Given the description of an element on the screen output the (x, y) to click on. 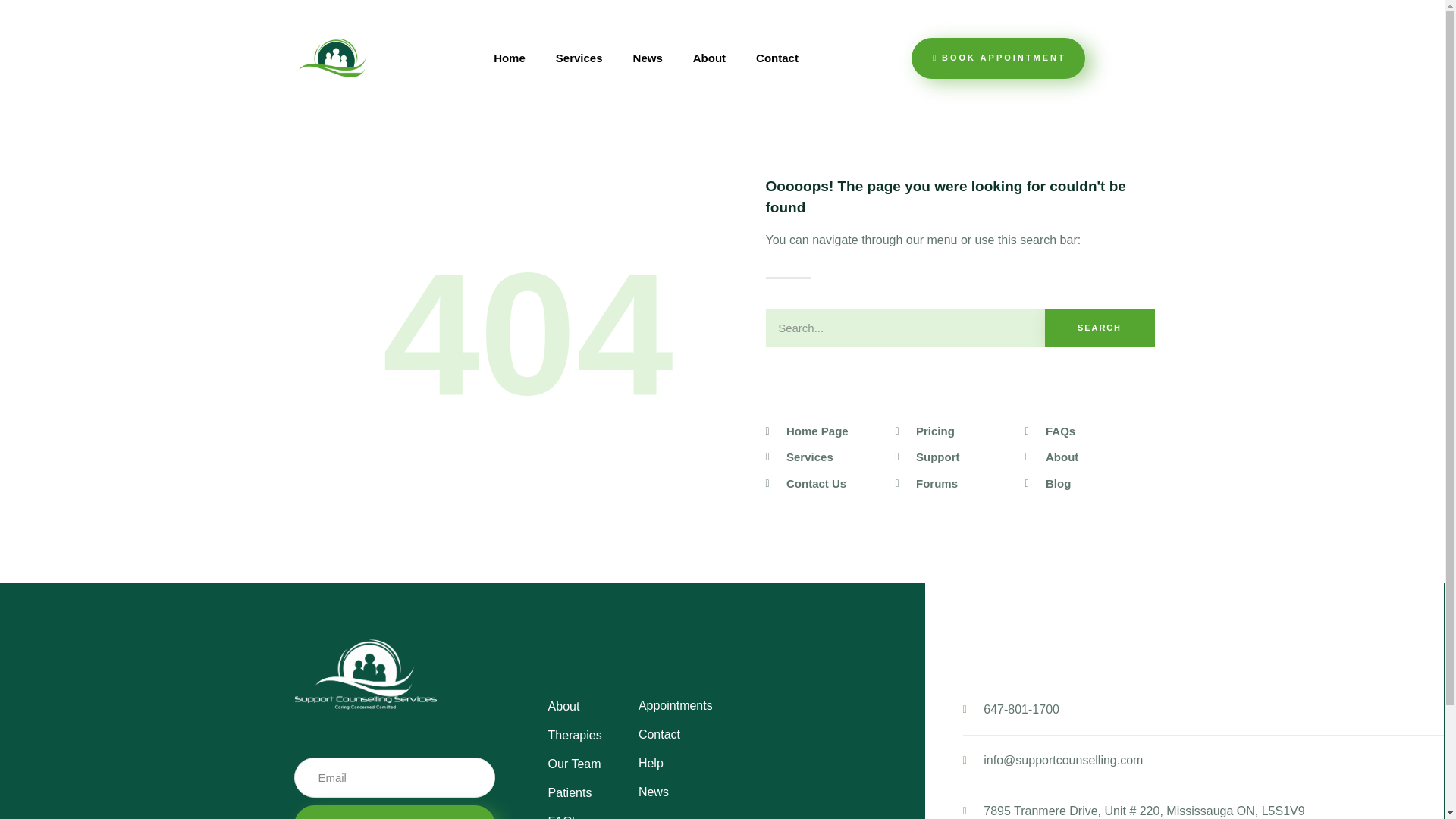
About (709, 57)
Search (1099, 328)
Contact (777, 57)
BOOK APPOINTMENT (997, 57)
Services (578, 57)
SEARCH (1099, 328)
Home (509, 57)
SEND (394, 812)
Search (905, 328)
News (647, 57)
